Given the description of an element on the screen output the (x, y) to click on. 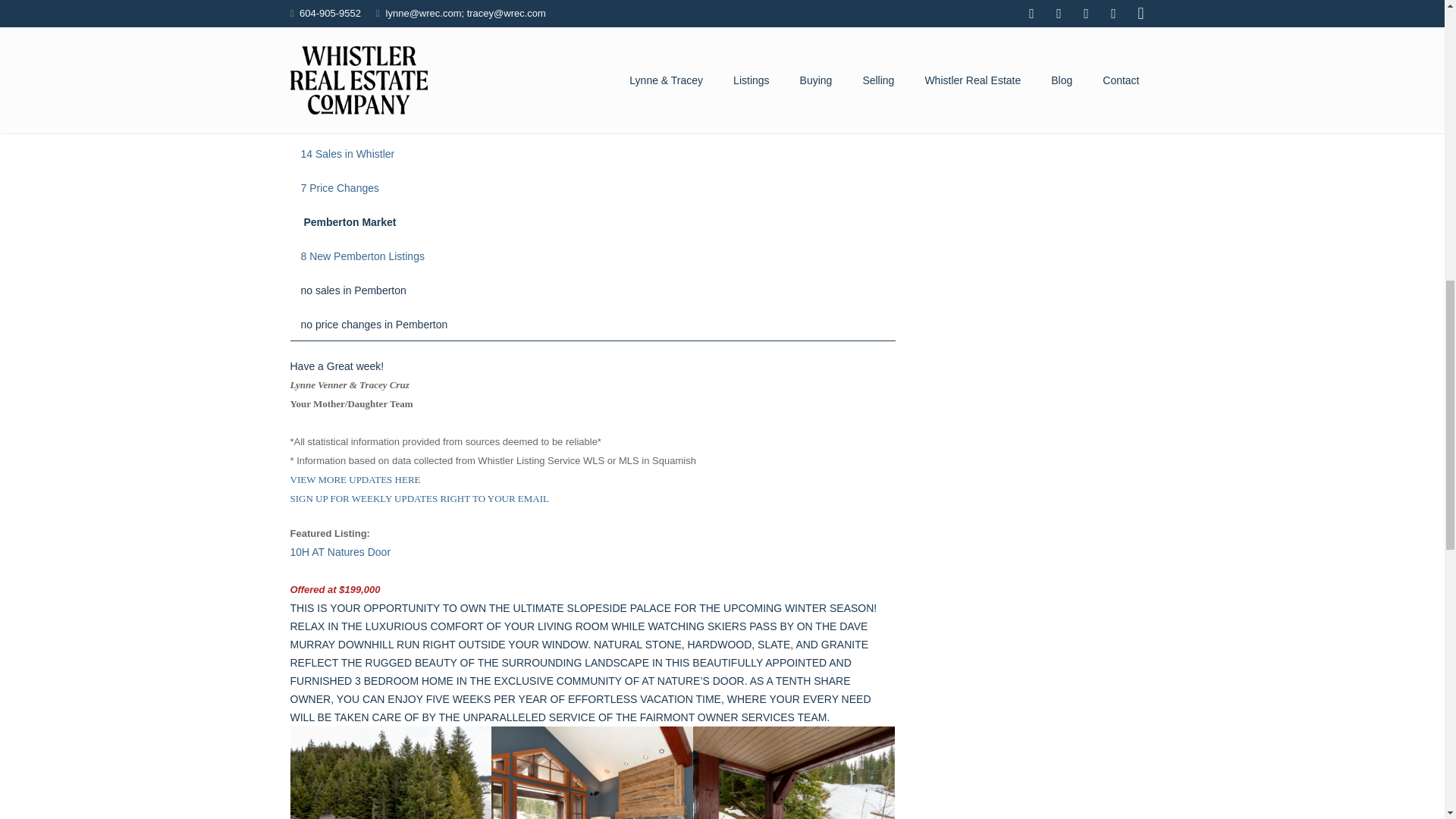
SIGN UP FOR WEEKLY UPDATES RIGHT TO YOUR EMAIL (418, 498)
10H AT Natures Door (339, 551)
18 New Whistler Listings (357, 119)
Back to top (1413, 22)
Luxurious Living Area overlooking the ski run (592, 772)
7 Price Changes (338, 187)
Soak in your tub watching skiers pass by! (794, 772)
VIEW MORE UPDATES HERE (354, 479)
Located right on the Dave Murray Downhill ski run! (390, 772)
14 Sales in Whistler (346, 153)
